Given the description of an element on the screen output the (x, y) to click on. 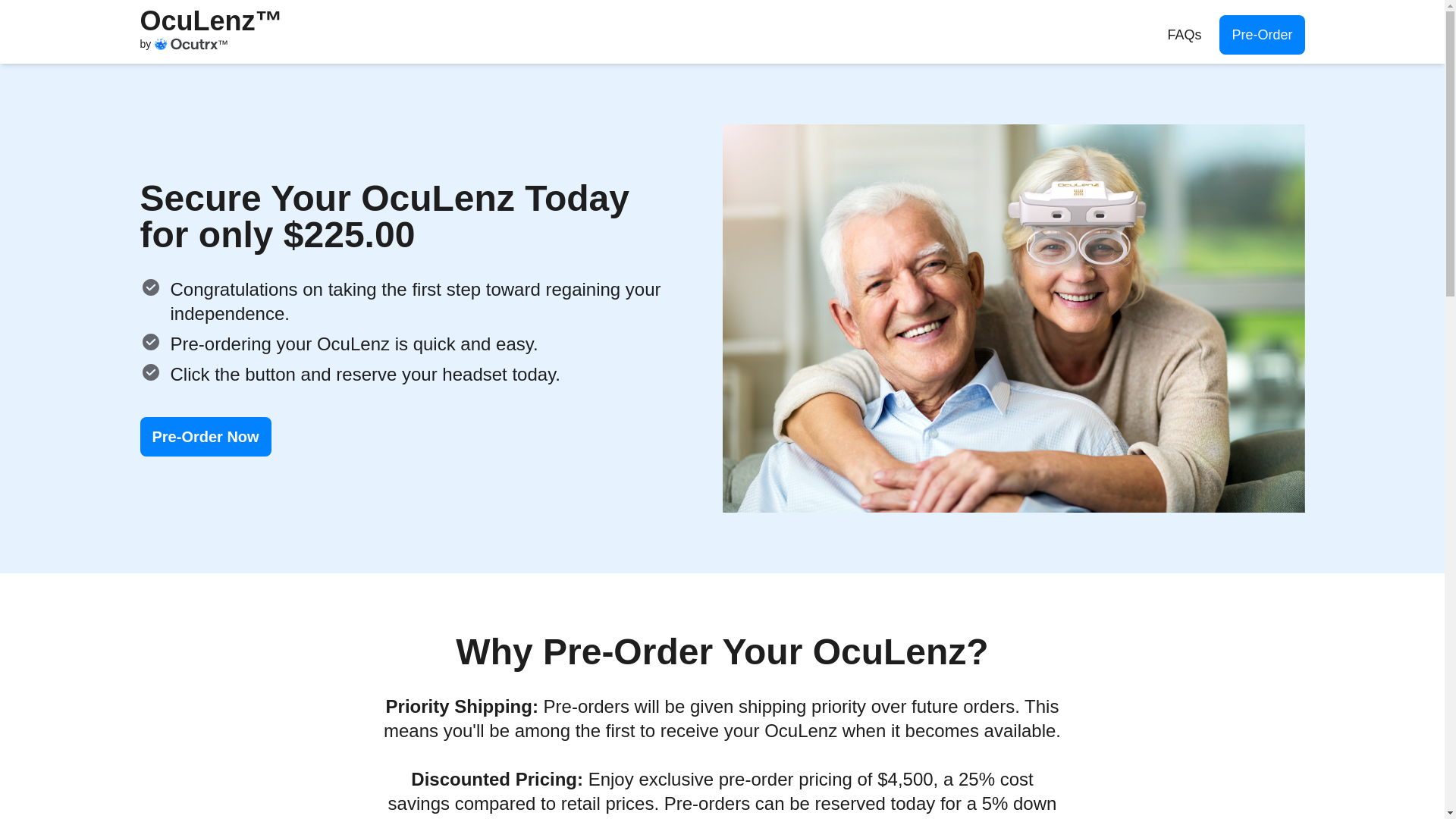
FAQs (1184, 34)
Pre-Order (1262, 34)
Pre-Order Now (204, 436)
